Given the description of an element on the screen output the (x, y) to click on. 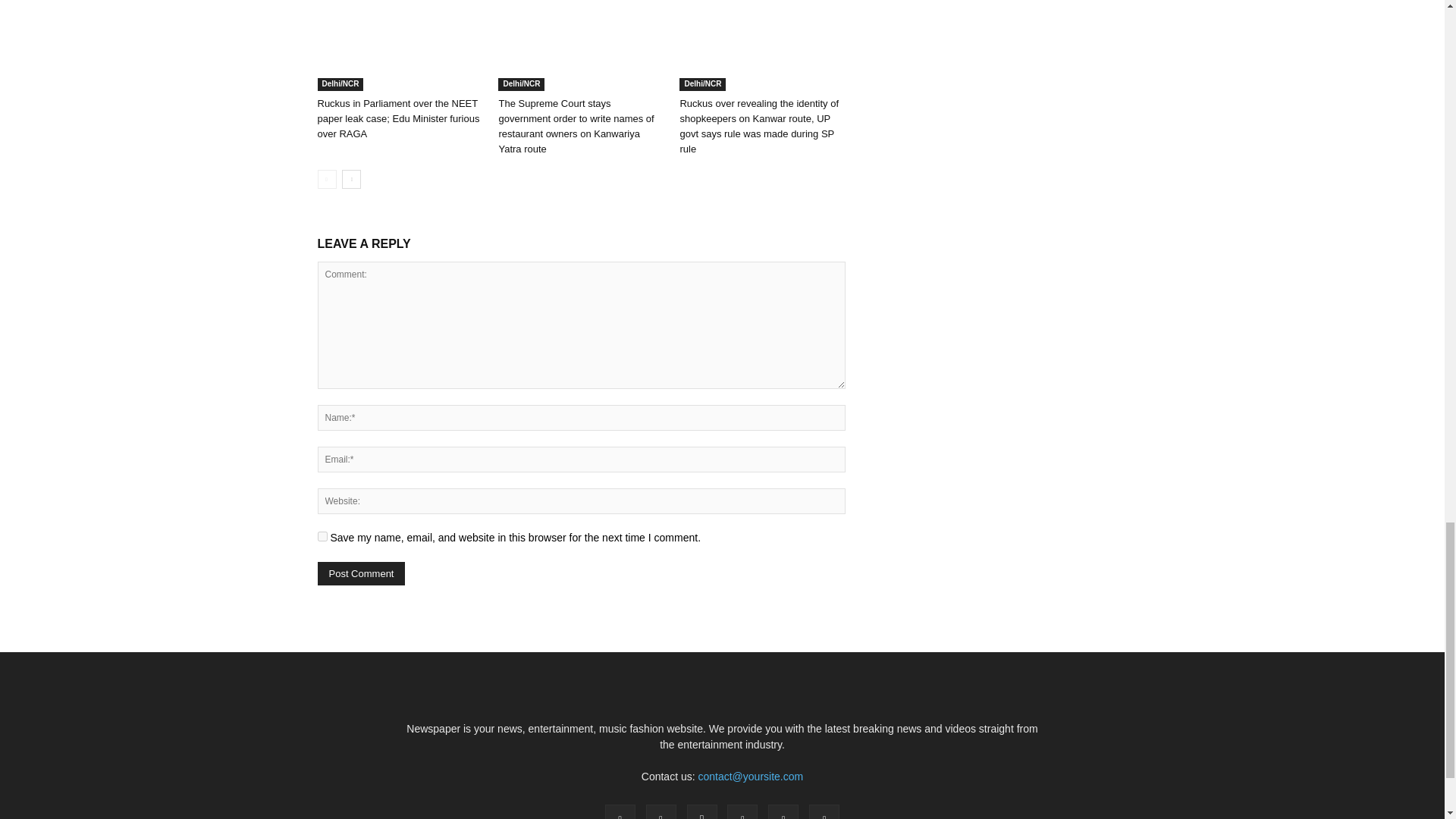
Post Comment (360, 573)
yes (321, 536)
